Given the description of an element on the screen output the (x, y) to click on. 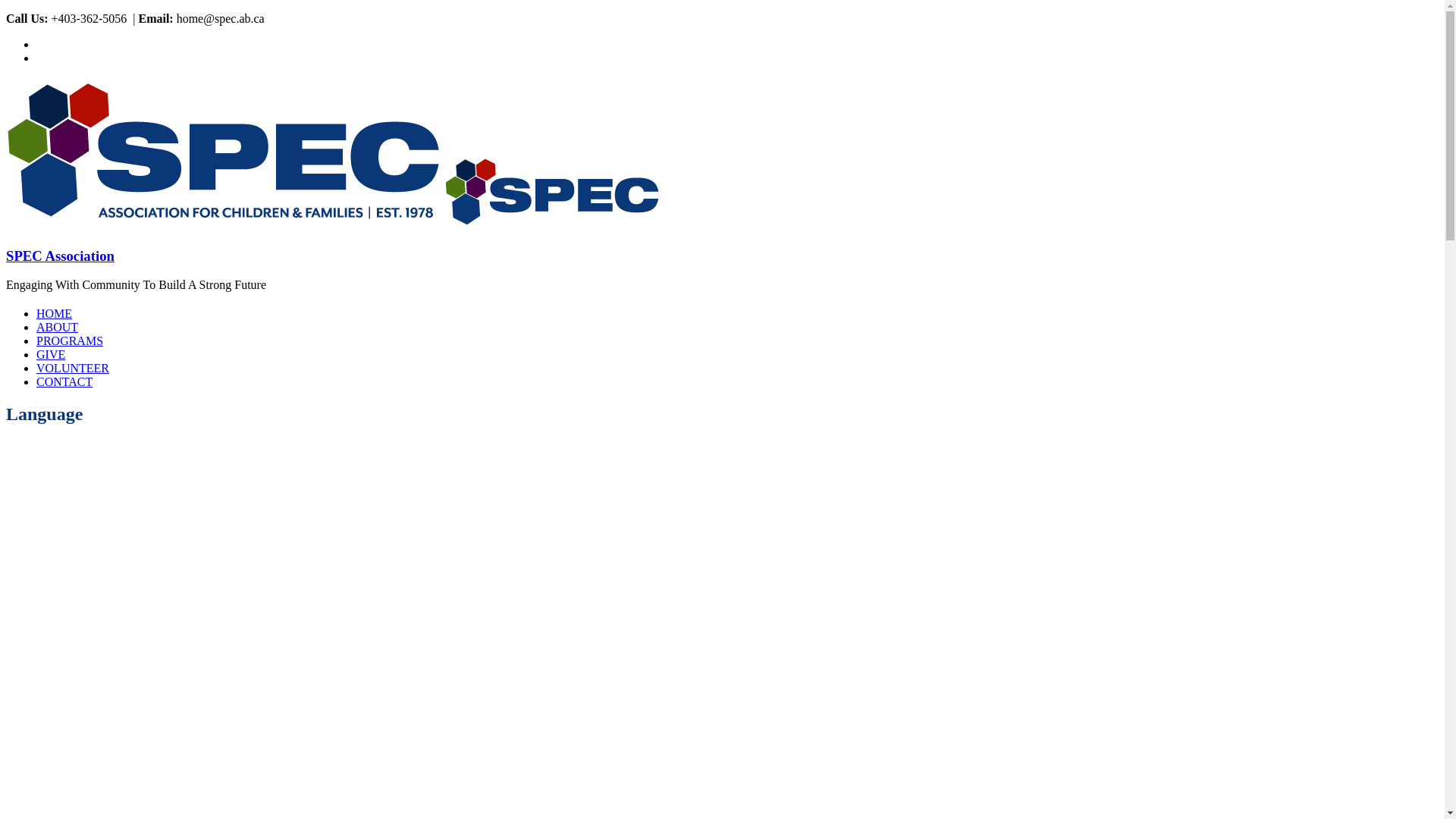
PROGRAMS Element type: text (69, 340)
SPEC Association Element type: hover (224, 225)
SPEC Association Element type: text (60, 255)
VOLUNTEER Element type: text (72, 367)
GIVE Element type: text (50, 354)
CONTACT Element type: text (64, 381)
HOME Element type: text (54, 313)
SPEC Association Element type: hover (551, 225)
ABOUT Element type: text (57, 326)
